Given the description of an element on the screen output the (x, y) to click on. 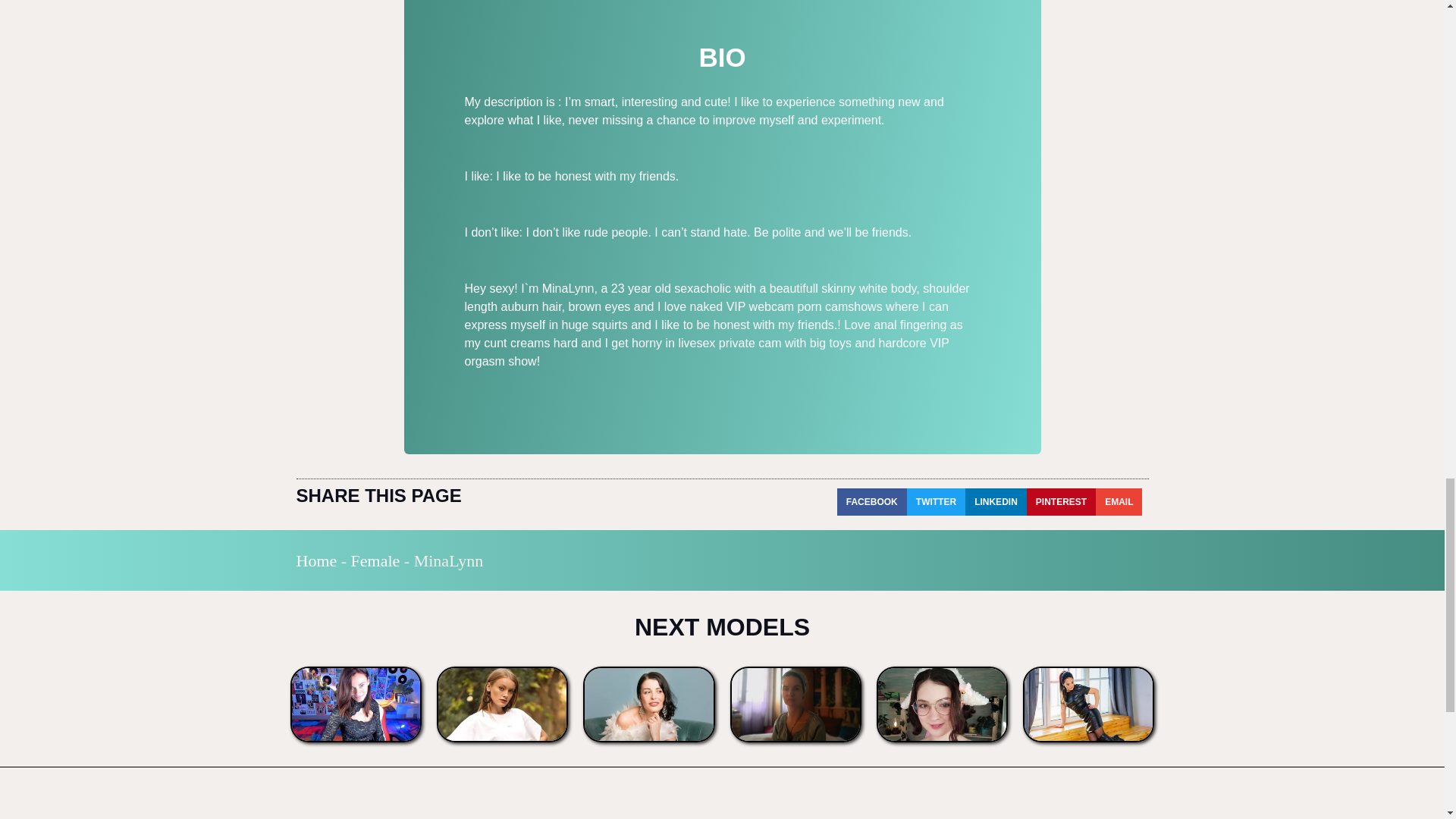
Female (375, 560)
Home (315, 560)
